Given the description of an element on the screen output the (x, y) to click on. 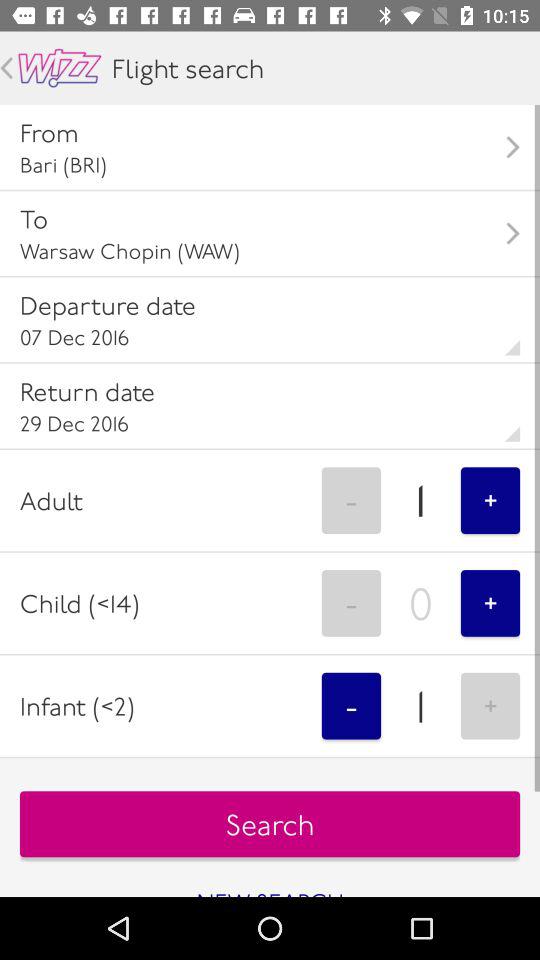
open the item next to the infant (<2) item (351, 705)
